Given the description of an element on the screen output the (x, y) to click on. 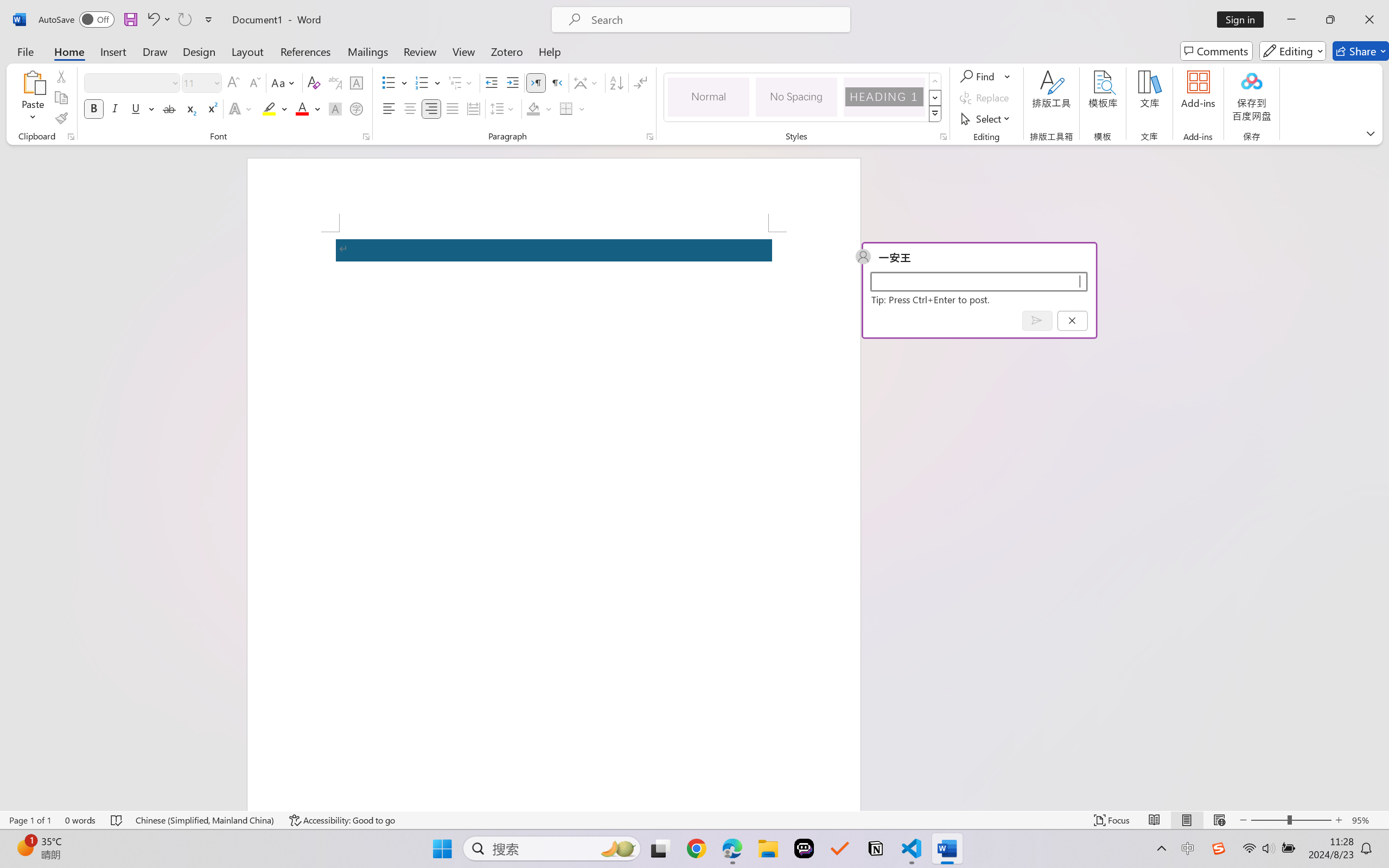
Cancel (1072, 320)
